Given the description of an element on the screen output the (x, y) to click on. 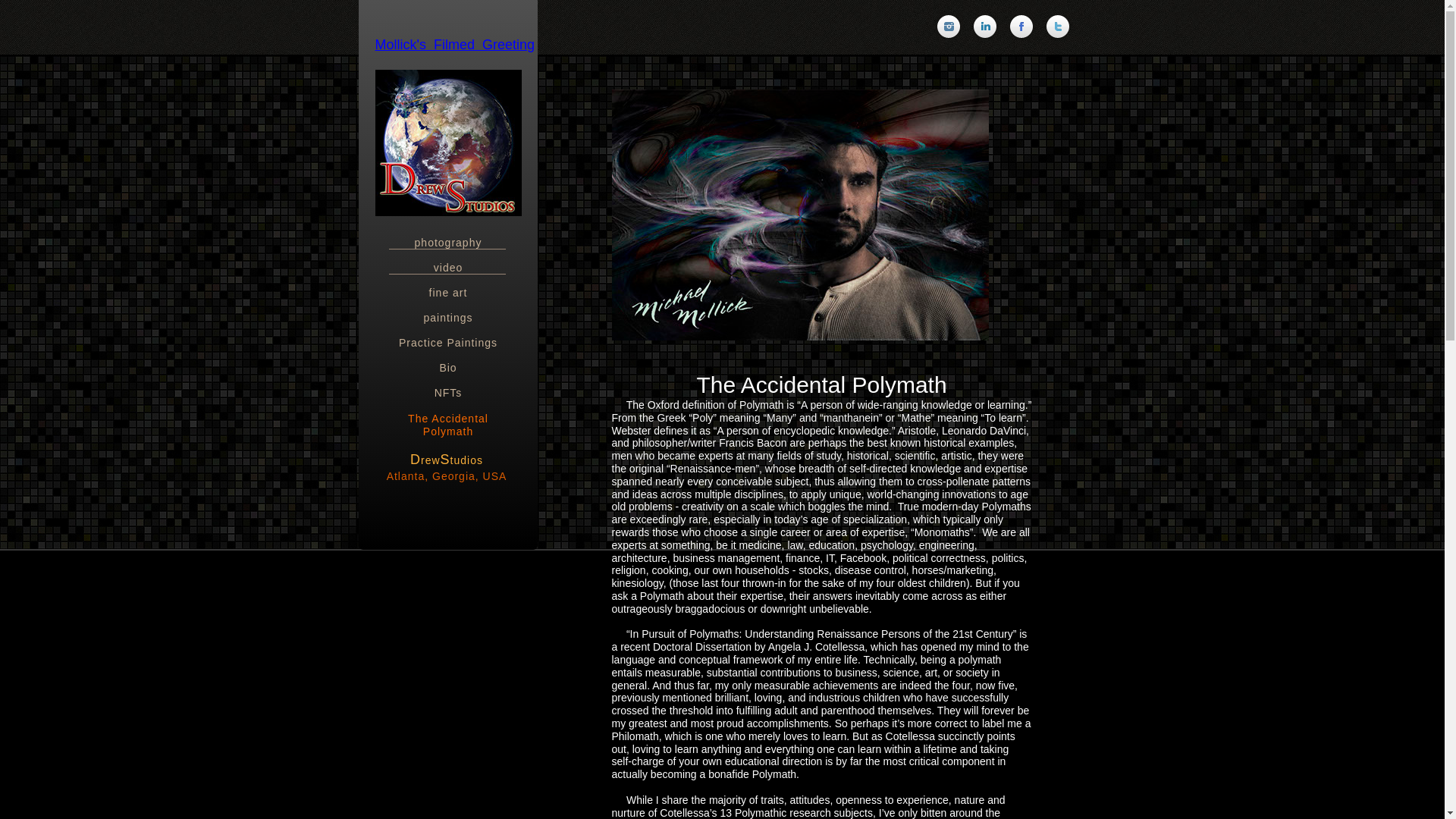
The Accidental Polymath (446, 413)
Practice Paintings (446, 337)
paintings (446, 312)
NFTs (446, 387)
video (446, 262)
fine art (446, 287)
Mollick's  Filmed  Greeting (454, 45)
Bio (446, 362)
photography (446, 237)
